Given the description of an element on the screen output the (x, y) to click on. 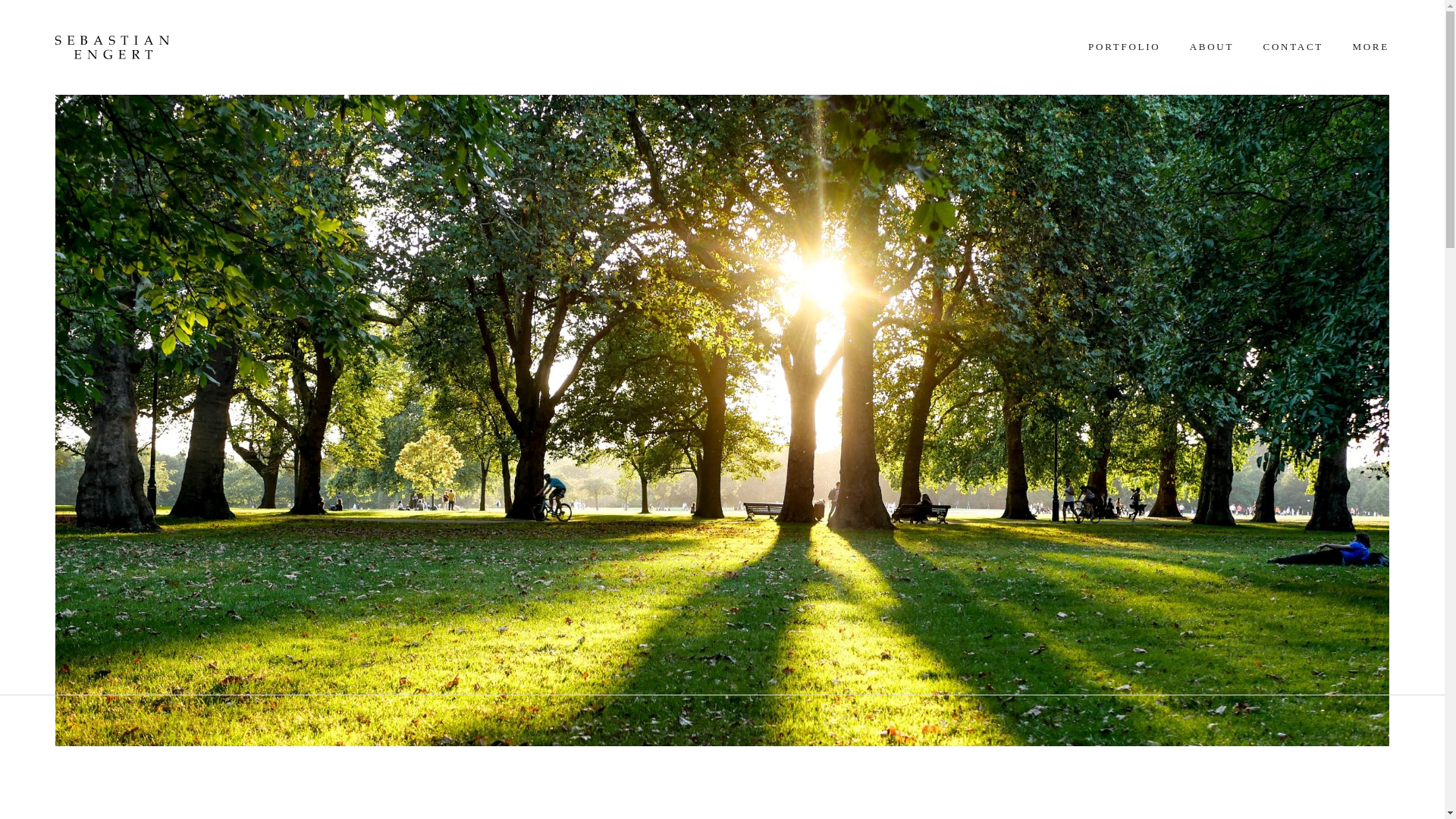
MORE (1370, 46)
CONTACT (1292, 46)
ABOUT (1211, 46)
PORTFOLIO (1124, 46)
